Given the description of an element on the screen output the (x, y) to click on. 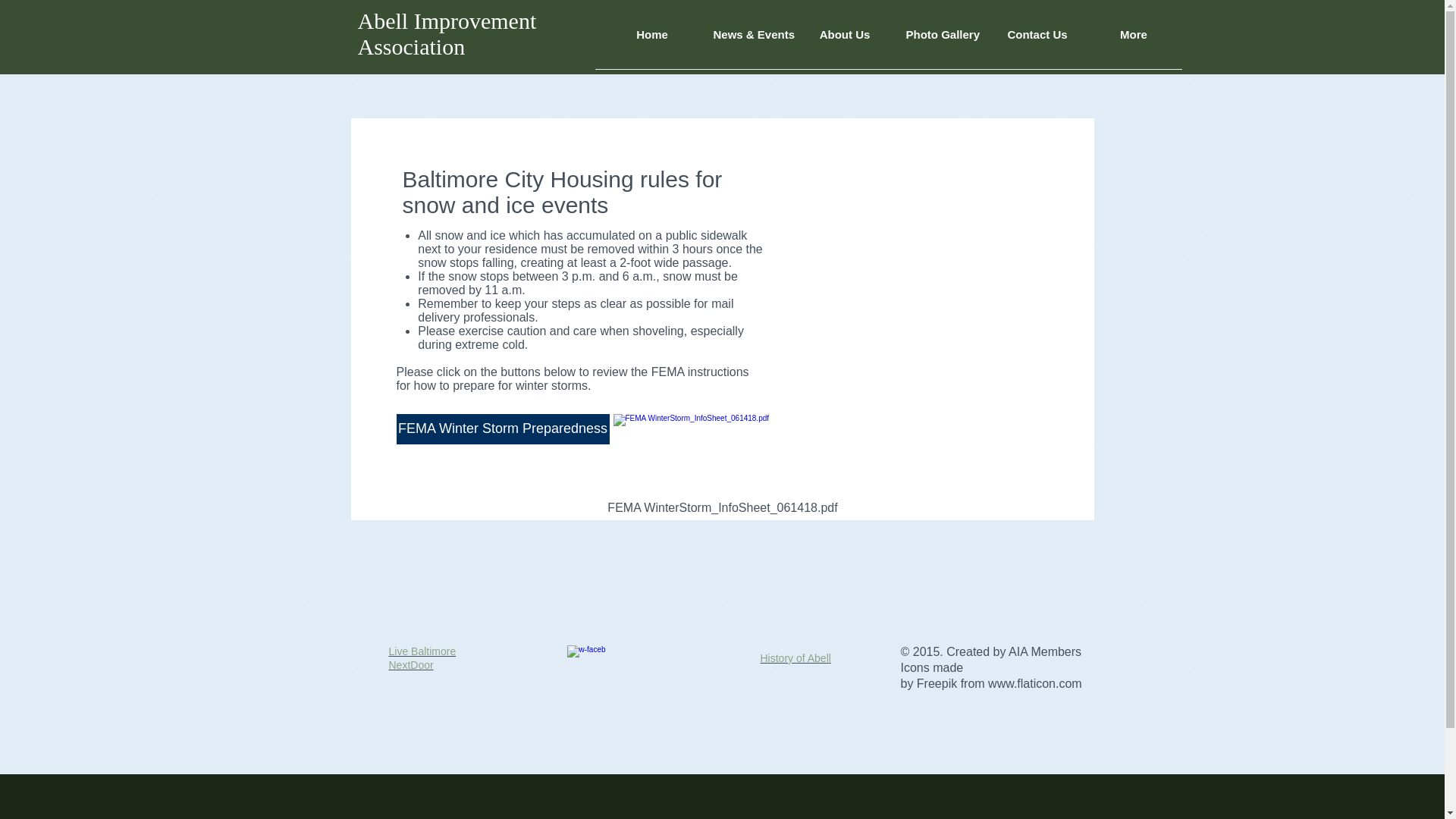
About Us (844, 39)
Contact Us (1036, 39)
NextDoor (410, 664)
Live Baltimore (421, 651)
www.flaticon.com (1034, 683)
Home (652, 39)
History of Abell (794, 657)
FEMA Winter Storm Preparedness (502, 429)
Photo Gallery (941, 39)
